Given the description of an element on the screen output the (x, y) to click on. 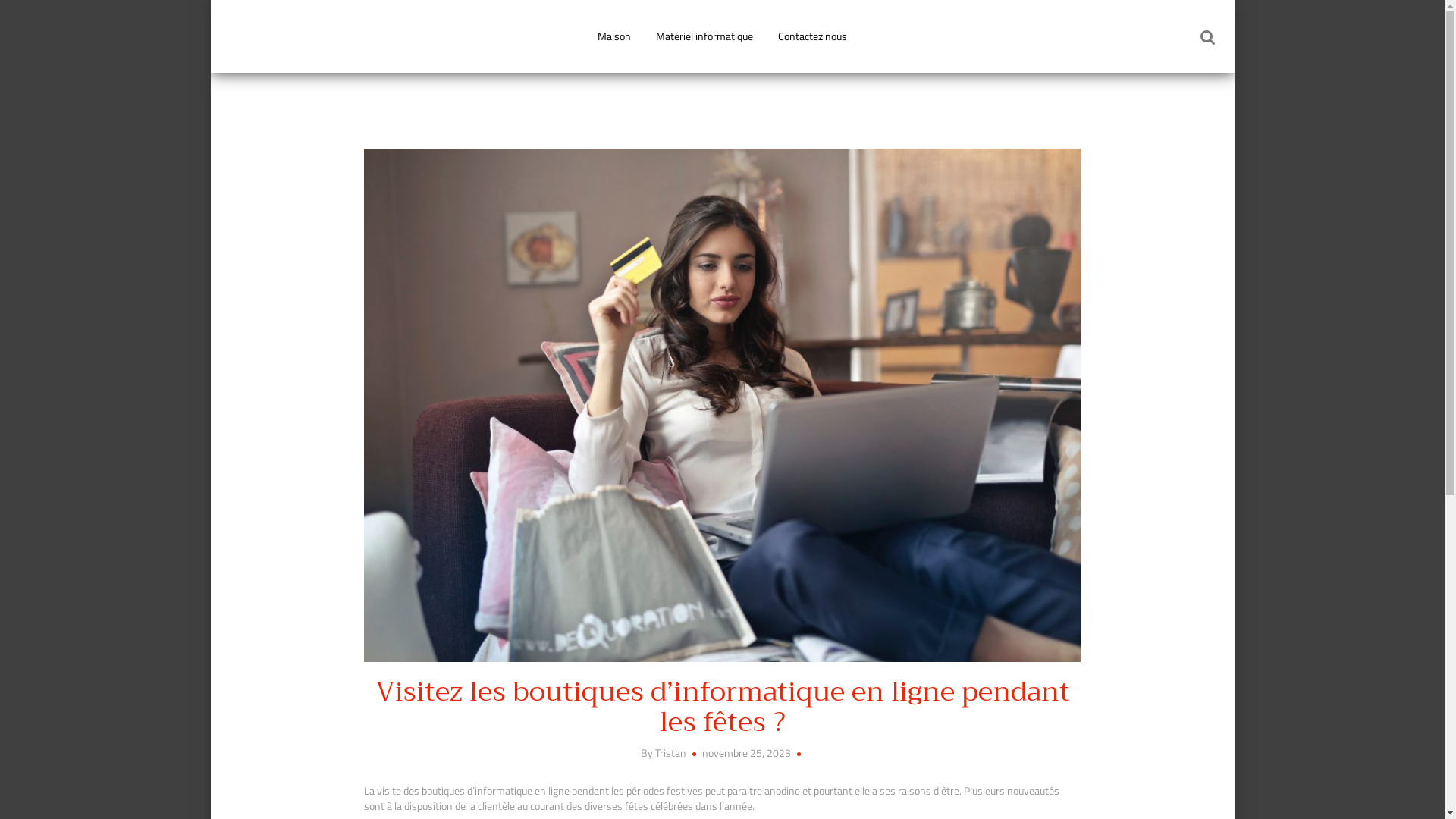
Contactez nous Element type: text (812, 35)
Maison Element type: text (613, 35)
By Tristan Element type: text (663, 752)
